Given the description of an element on the screen output the (x, y) to click on. 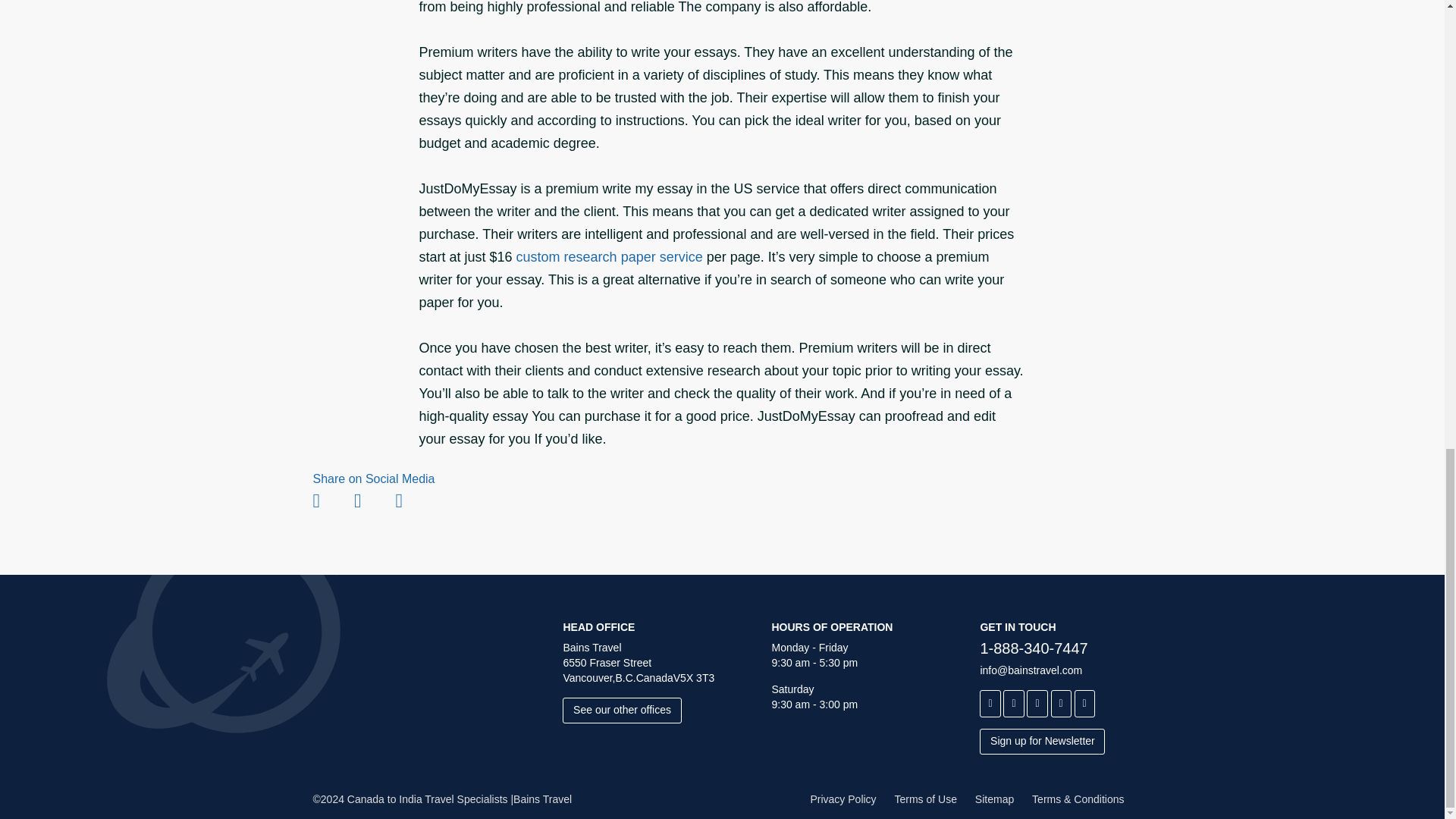
bains-logo-white  (396, 641)
